Given the description of an element on the screen output the (x, y) to click on. 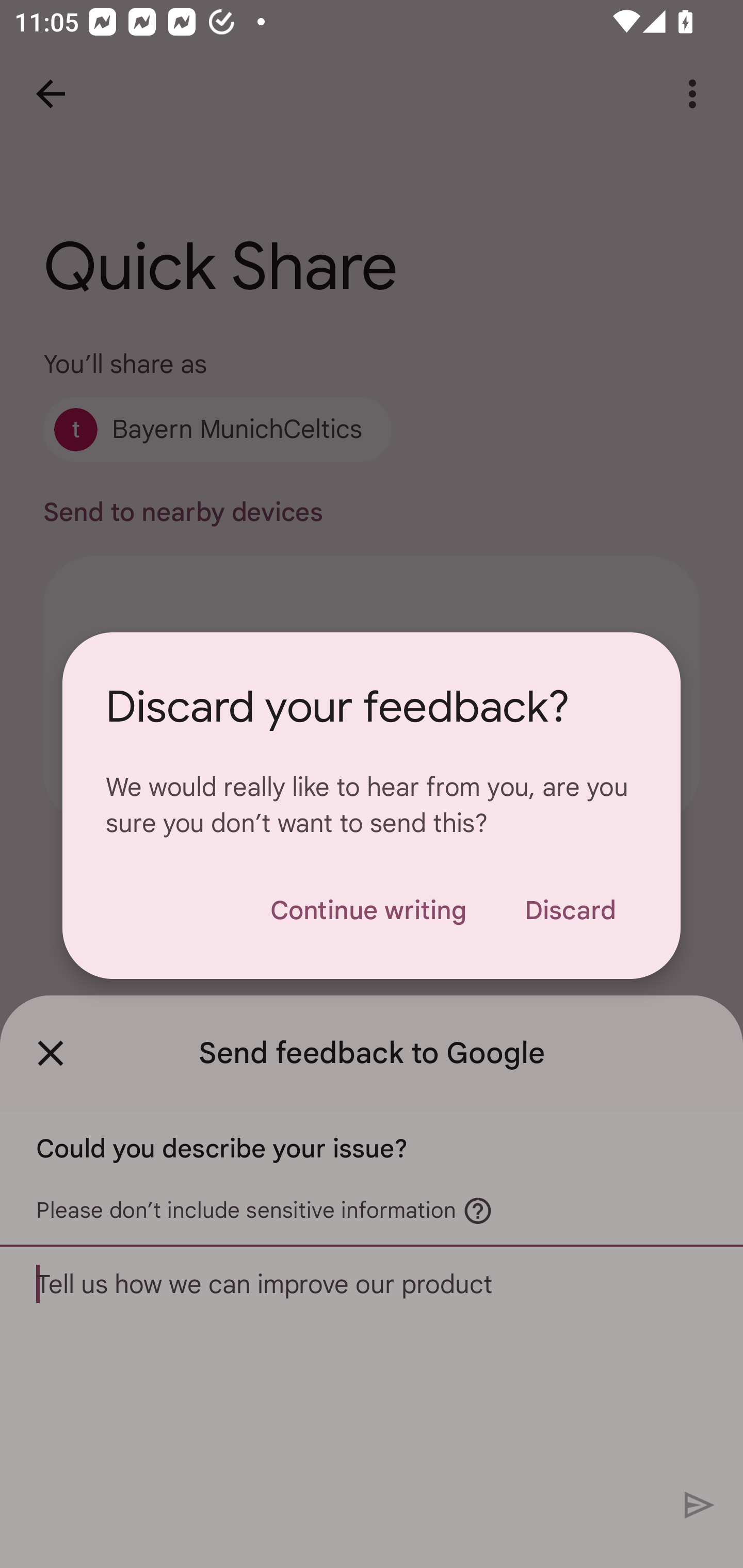
Continue writing (368, 910)
Discard (569, 910)
